Given the description of an element on the screen output the (x, y) to click on. 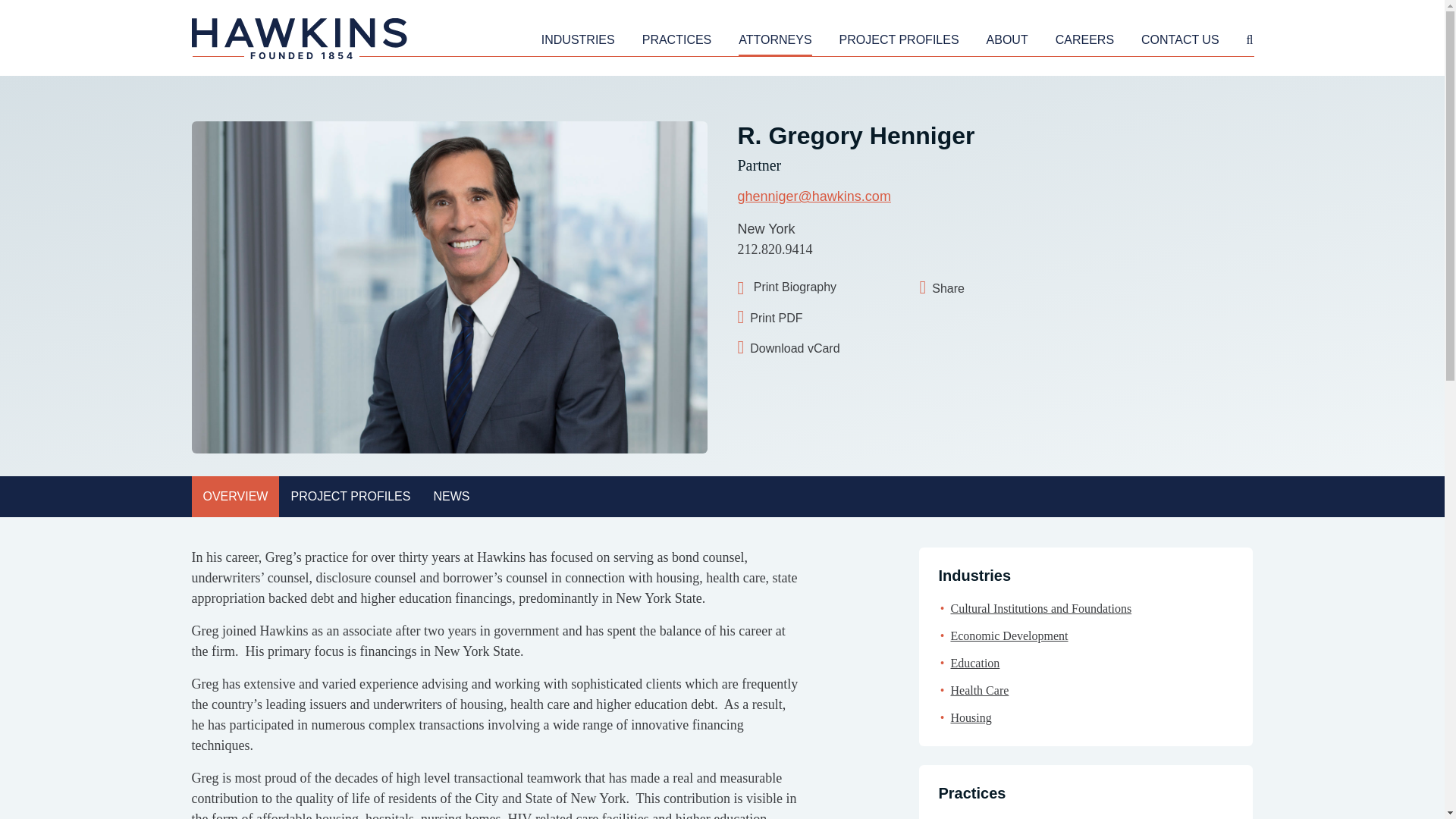
PDF Print (806, 317)
ATTORNEYS (774, 43)
PROJECT PROFILES (899, 43)
212.820.9414 (774, 249)
Share Options (988, 288)
Print Page (785, 287)
Print Biography (785, 287)
PRACTICES (676, 43)
Print PDF (806, 317)
CAREERS (1084, 43)
Download vCard (806, 347)
Download vCard (806, 347)
CONTACT US (1180, 43)
ABOUT (1007, 43)
INDUSTRIES (577, 43)
